Given the description of an element on the screen output the (x, y) to click on. 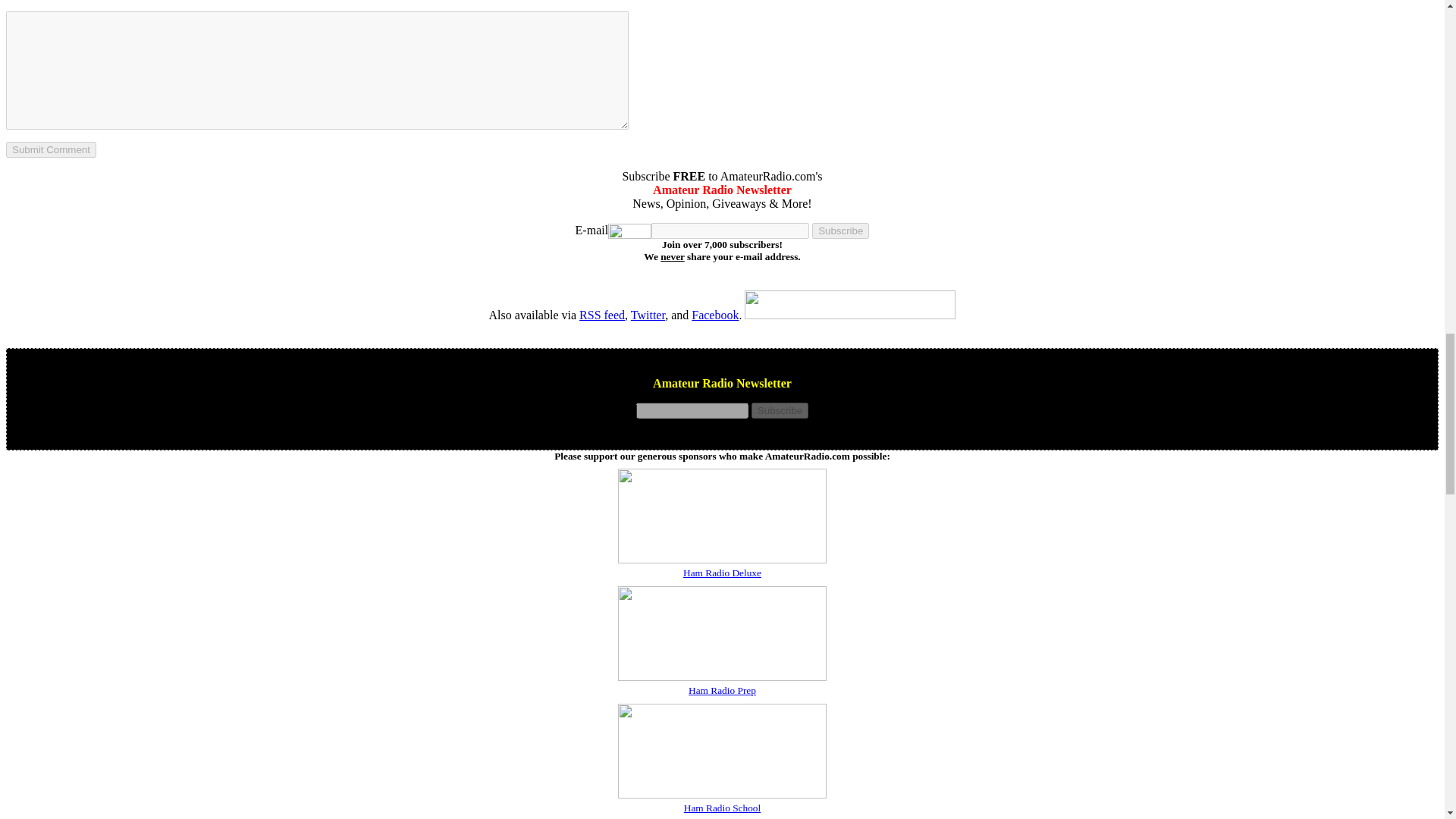
Subscribe (779, 410)
RSS feed (601, 314)
Submit Comment (50, 149)
Ham Radio Prep (721, 689)
Subscribe (840, 230)
Facebook (714, 314)
Twitter (647, 314)
Ham Radio School (722, 807)
Subscribe (779, 410)
Submit Comment (50, 149)
Subscribe (840, 230)
Ham Radio Deluxe (721, 571)
